Given the description of an element on the screen output the (x, y) to click on. 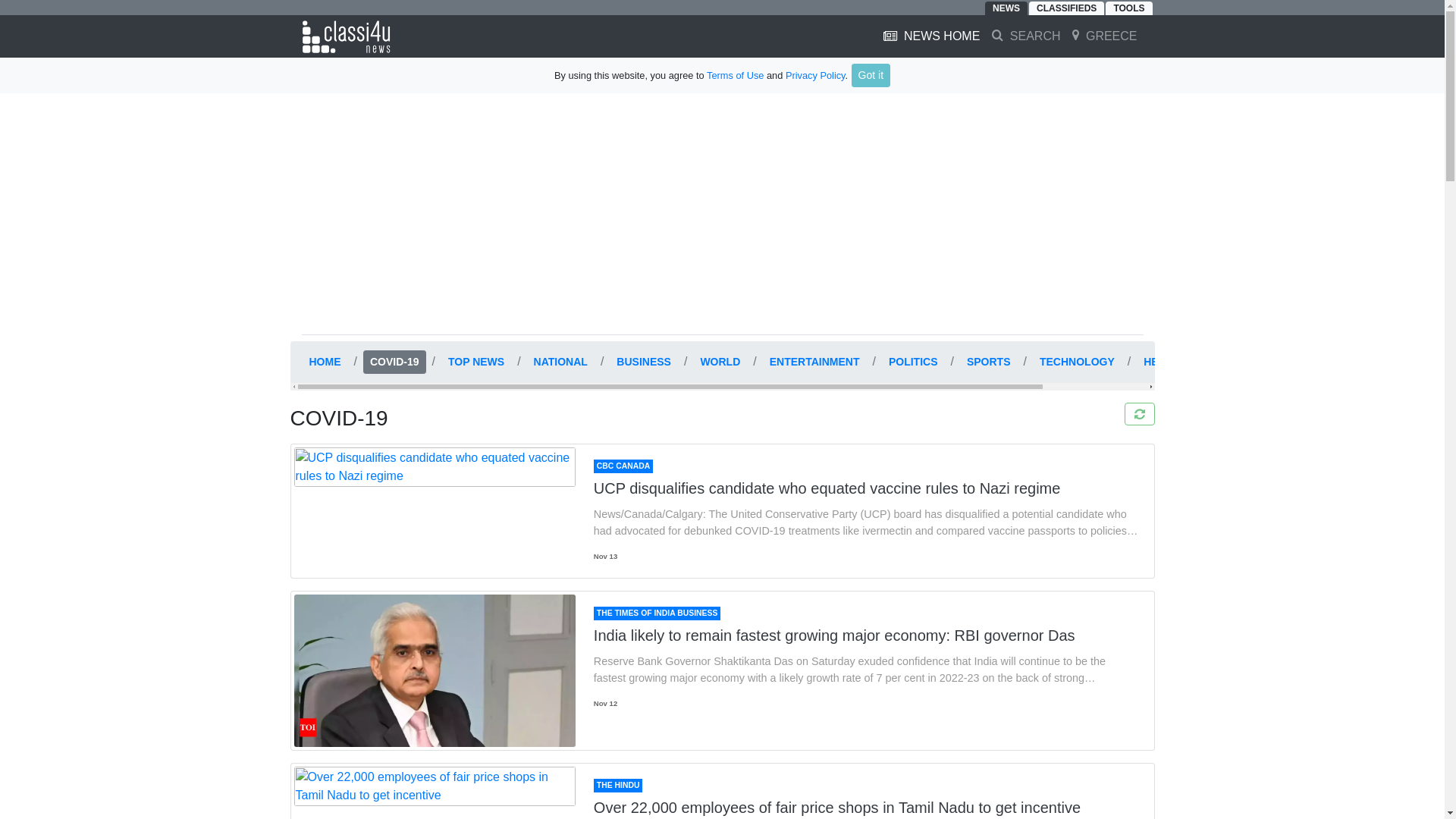
BUSINESS (644, 361)
CBC CANADA (623, 466)
ENTERTAINMENT (814, 361)
NATIONAL (560, 361)
Refresh (1139, 413)
CLASSIFIEDS (1066, 8)
TRAVEL (1235, 361)
Terms of Use (734, 75)
